Given the description of an element on the screen output the (x, y) to click on. 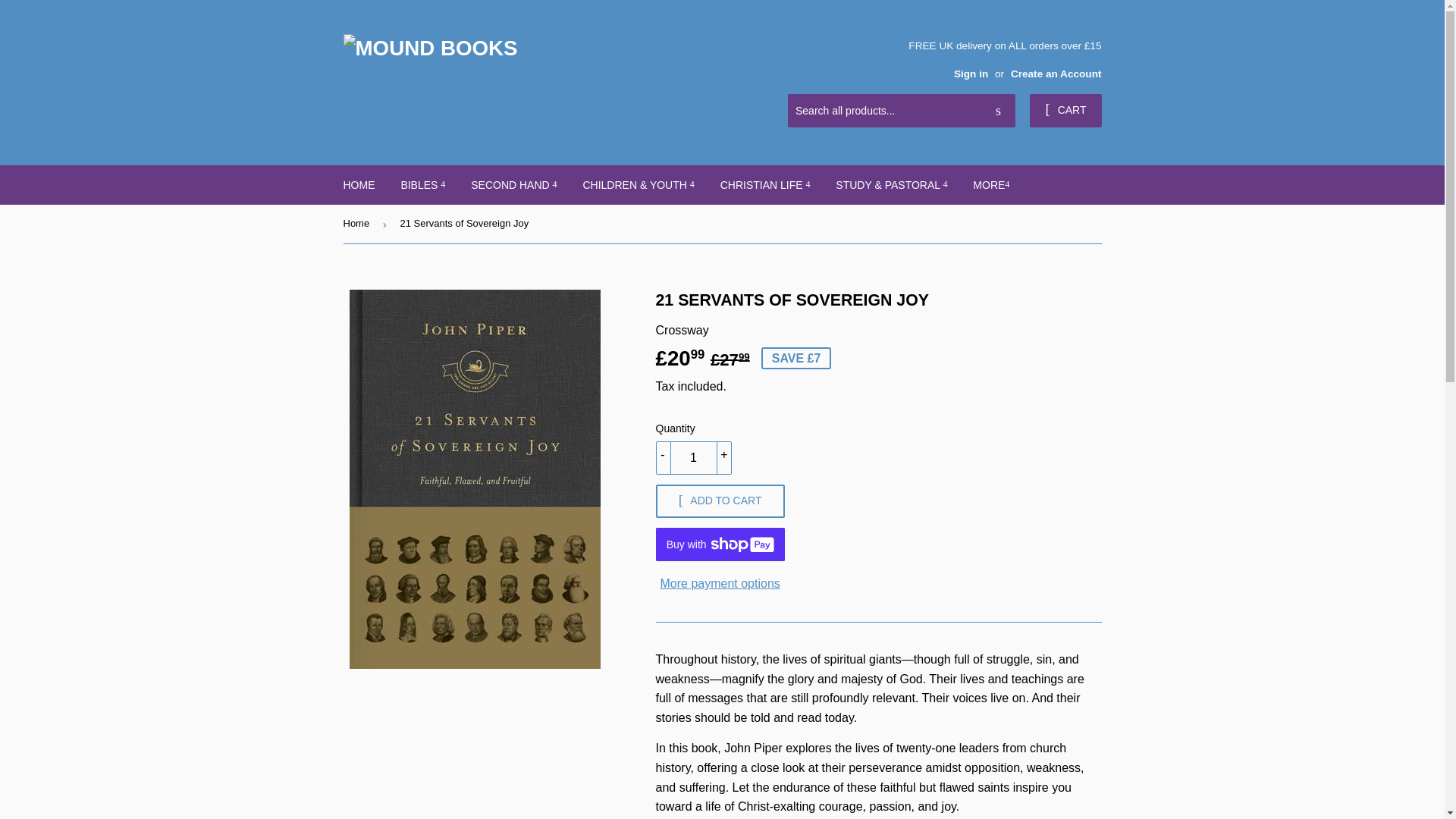
1 (692, 458)
Search (997, 111)
Create an Account (1056, 73)
CART (1064, 110)
Sign in (970, 73)
